Given the description of an element on the screen output the (x, y) to click on. 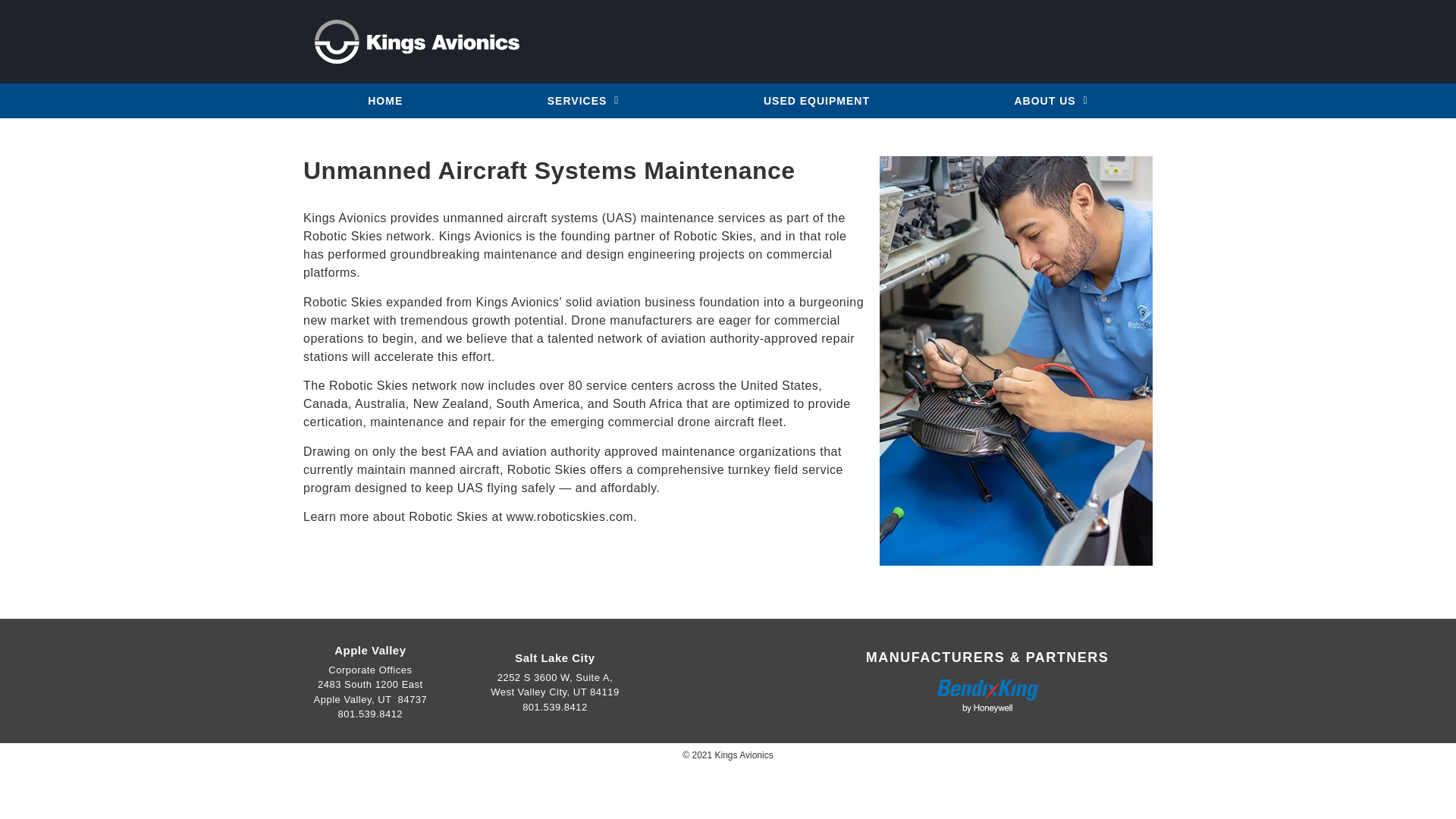
ABOUT US (1051, 100)
USED EQUIPMENT (816, 100)
SERVICES (583, 100)
HOME (385, 100)
